Given the description of an element on the screen output the (x, y) to click on. 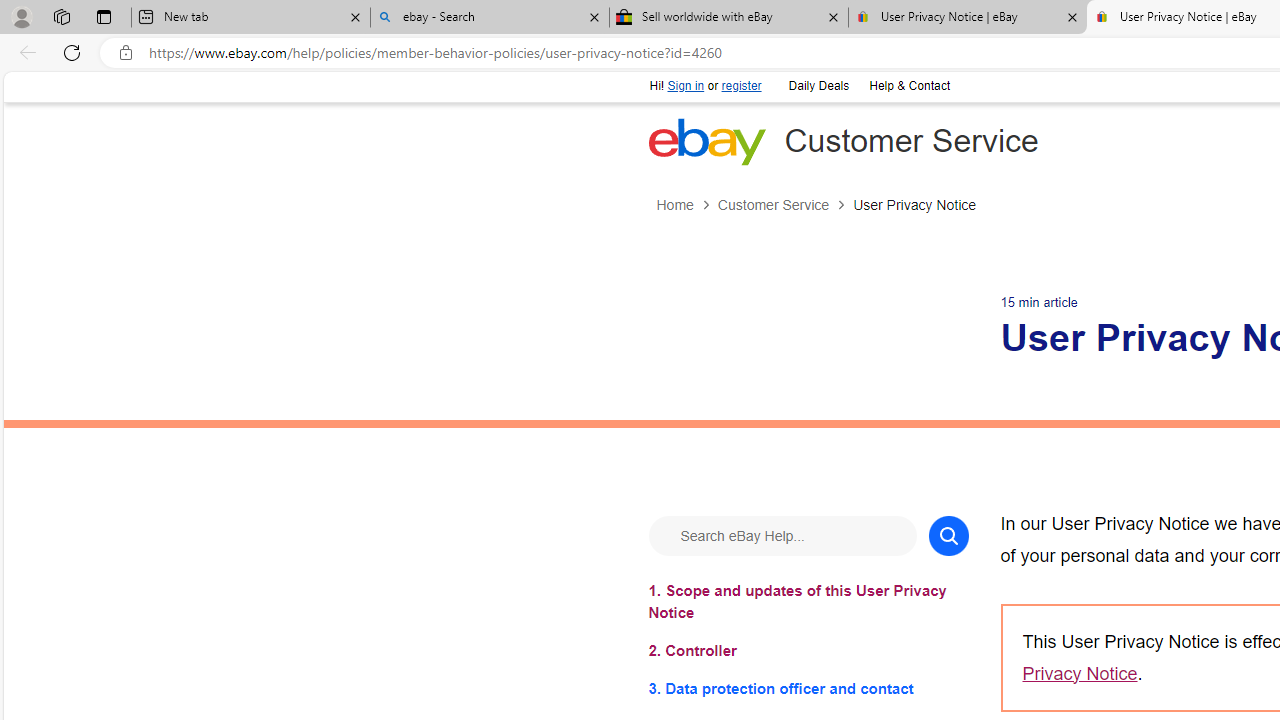
Help & Contact (907, 84)
User Privacy Notice | eBay (967, 17)
Customer Service (772, 205)
eBay Home (706, 141)
2. Controller (807, 650)
User Privacy Notice (914, 205)
1. Scope and updates of this User Privacy Notice (807, 601)
